Given the description of an element on the screen output the (x, y) to click on. 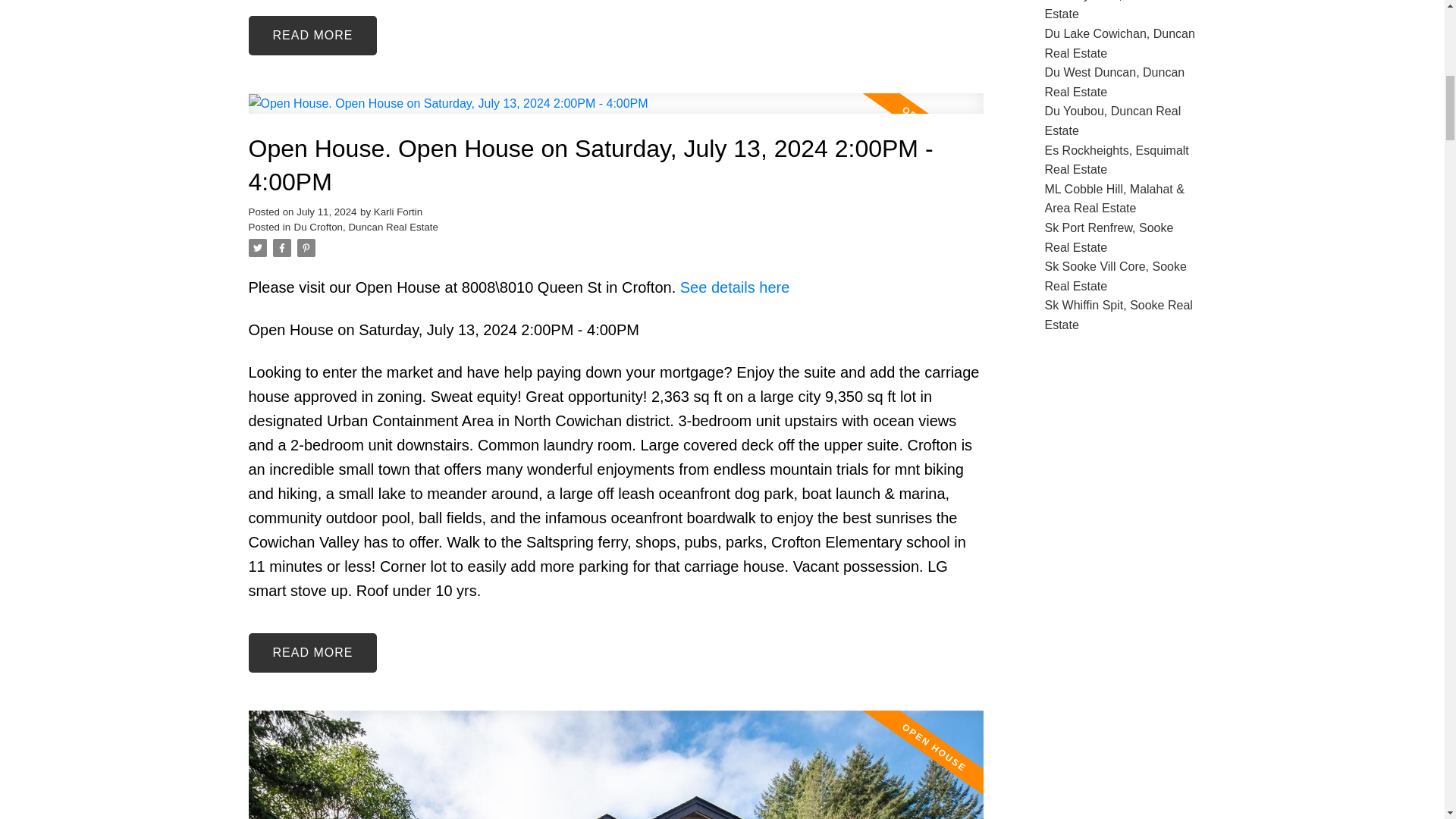
Read full post (616, 764)
Read full post (616, 112)
